Given the description of an element on the screen output the (x, y) to click on. 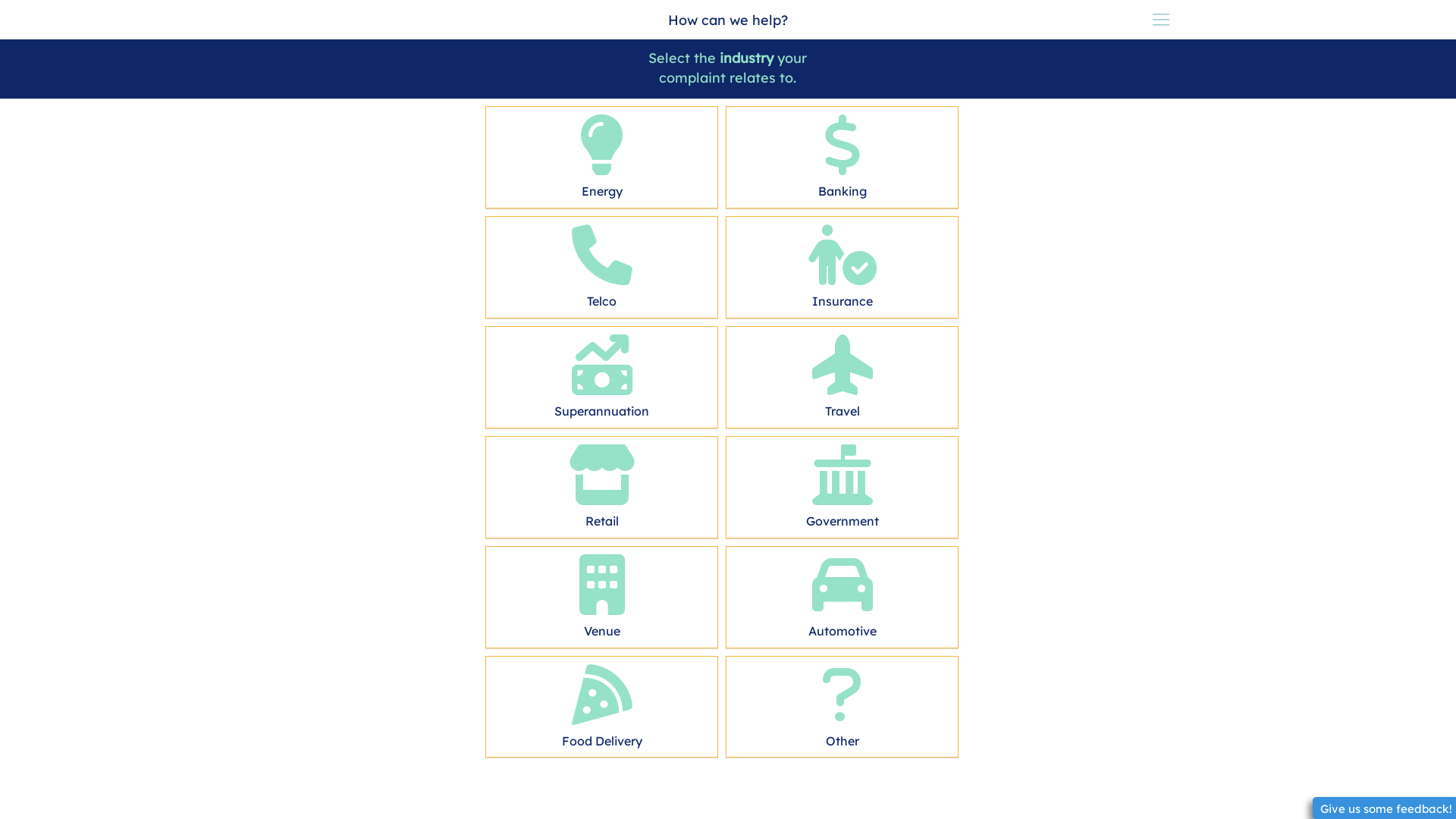
Retail Element type: text (601, 483)
Toggle navigation Element type: text (1160, 19)
Venue Element type: text (601, 593)
Food Delivery Element type: text (601, 702)
Telco Element type: text (601, 263)
Government Element type: text (841, 483)
Automotive Element type: text (841, 593)
Insurance Element type: text (841, 263)
Superannuation Element type: text (601, 373)
Energy Element type: text (601, 153)
Banking Element type: text (841, 153)
Travel Element type: text (841, 373)
Other Element type: text (841, 702)
